Given the description of an element on the screen output the (x, y) to click on. 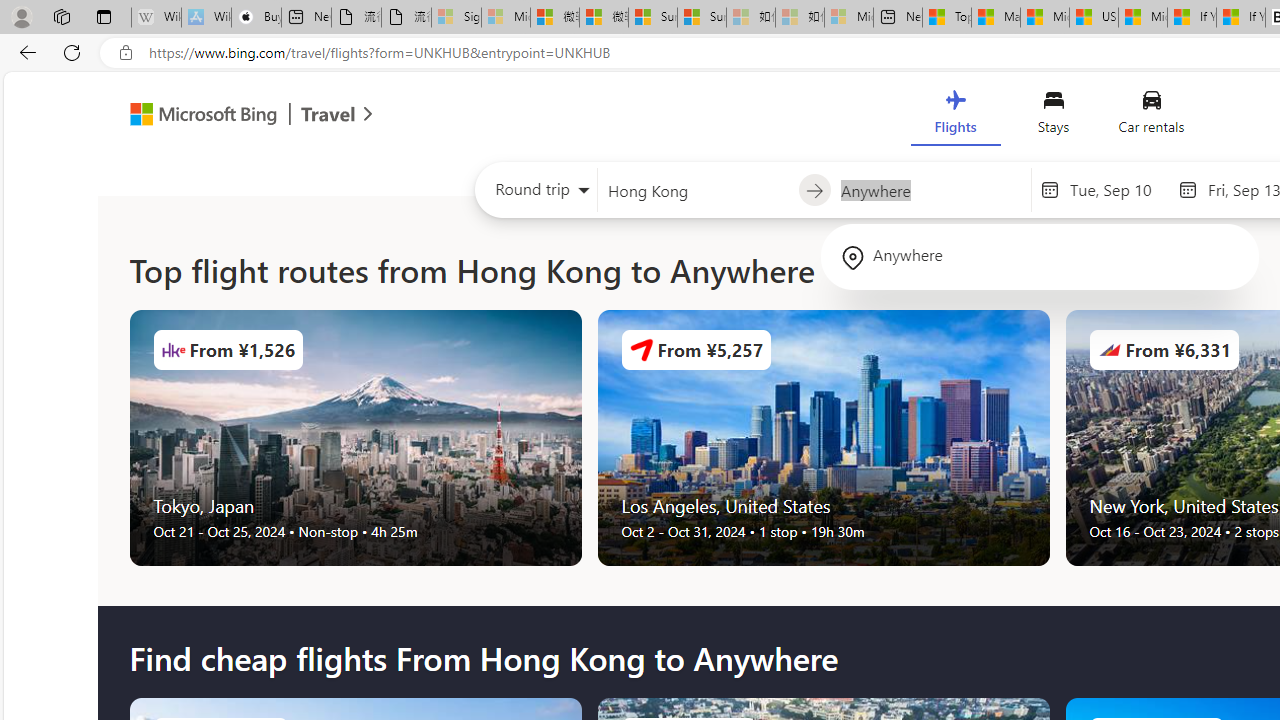
Anywhere (1039, 256)
Microsoft Bing Travel (229, 116)
Class: autosuggest-container full-height no-y-padding (930, 190)
Start Date (1118, 189)
Airlines Logo (1109, 349)
Flights (955, 116)
